Given the description of an element on the screen output the (x, y) to click on. 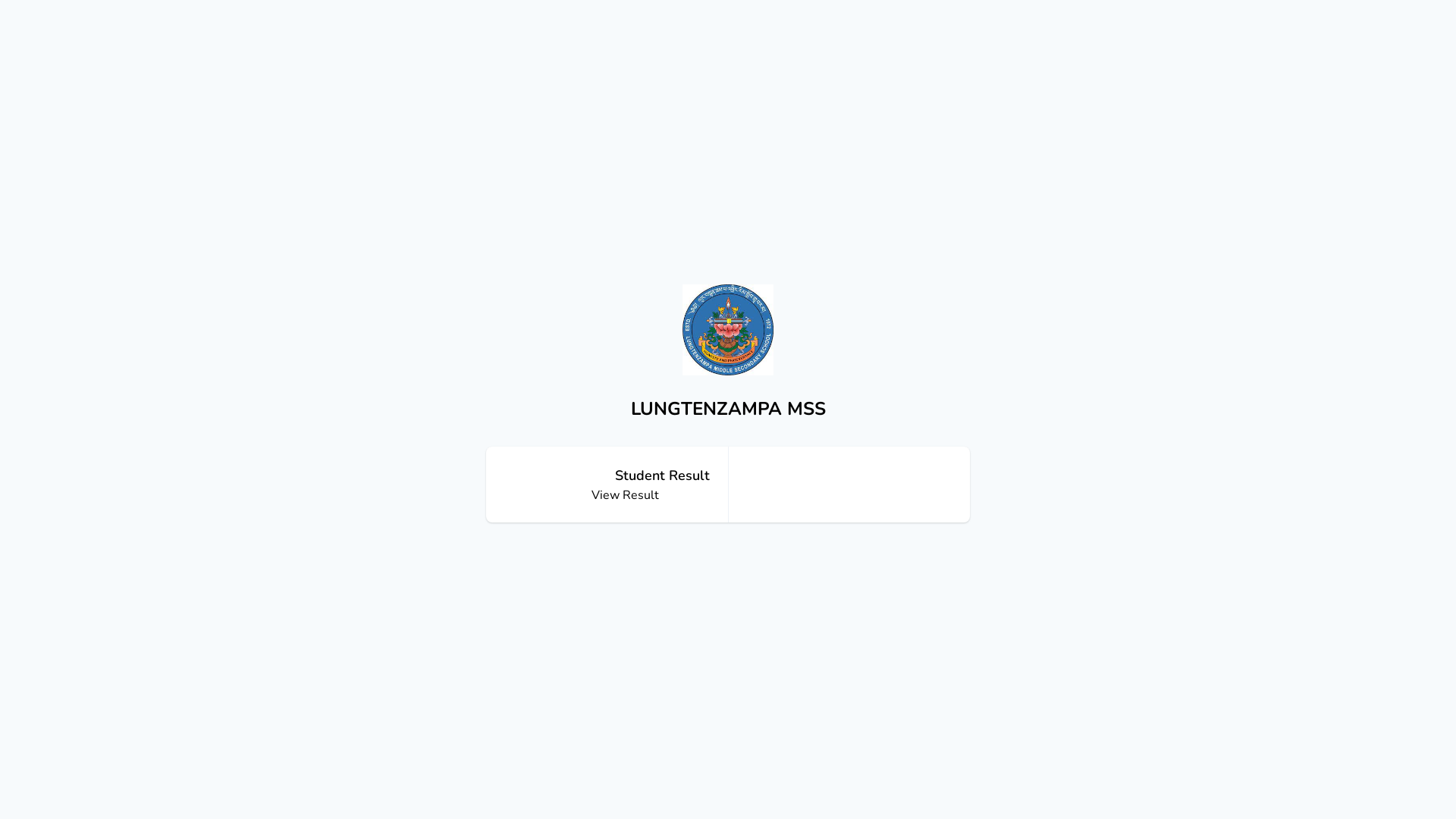
View Result Element type: text (624, 494)
